Given the description of an element on the screen output the (x, y) to click on. 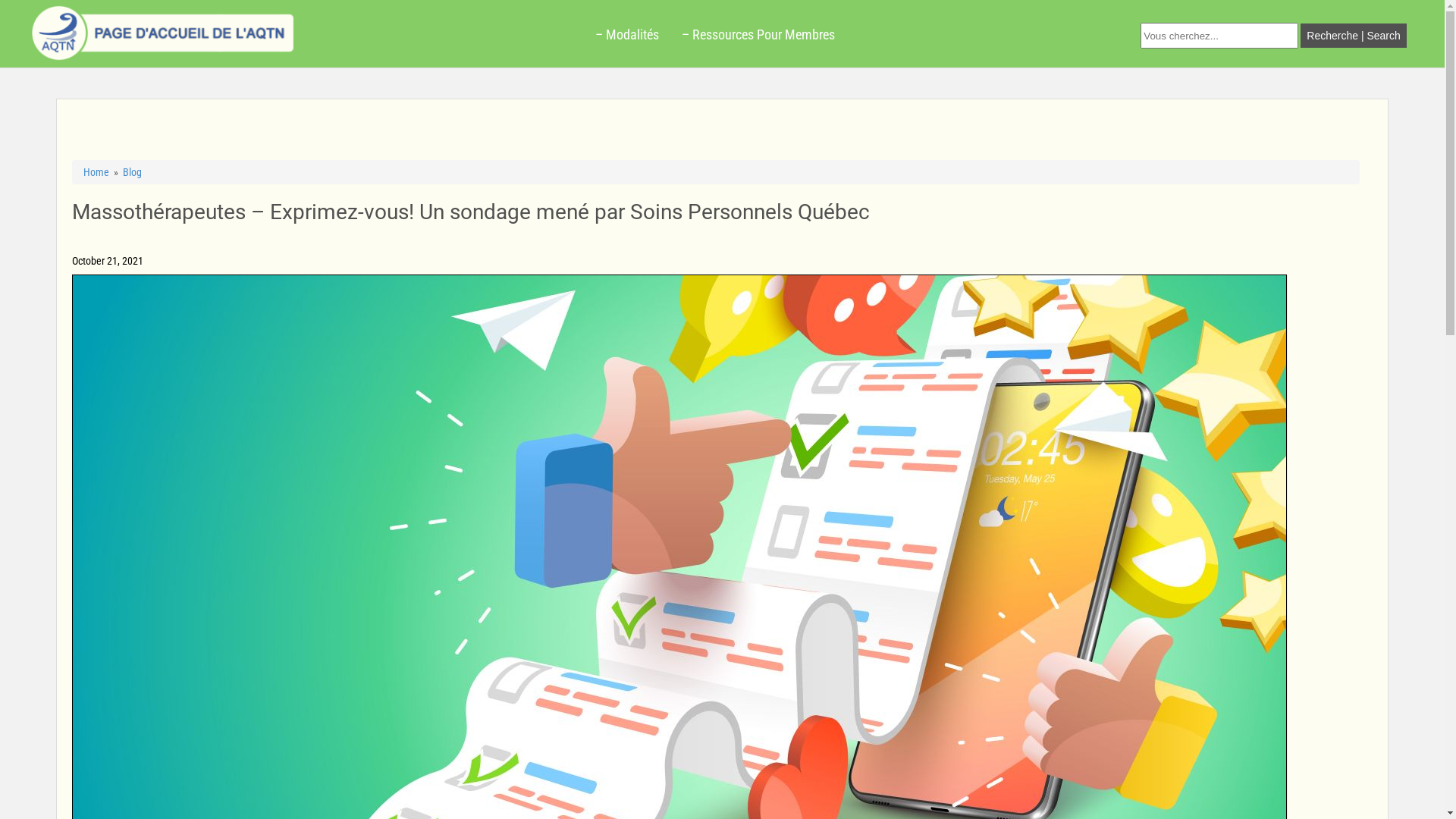
Recherche | Search Element type: text (1352, 34)
Home Element type: text (96, 172)
Blog Element type: text (131, 172)
